Given the description of an element on the screen output the (x, y) to click on. 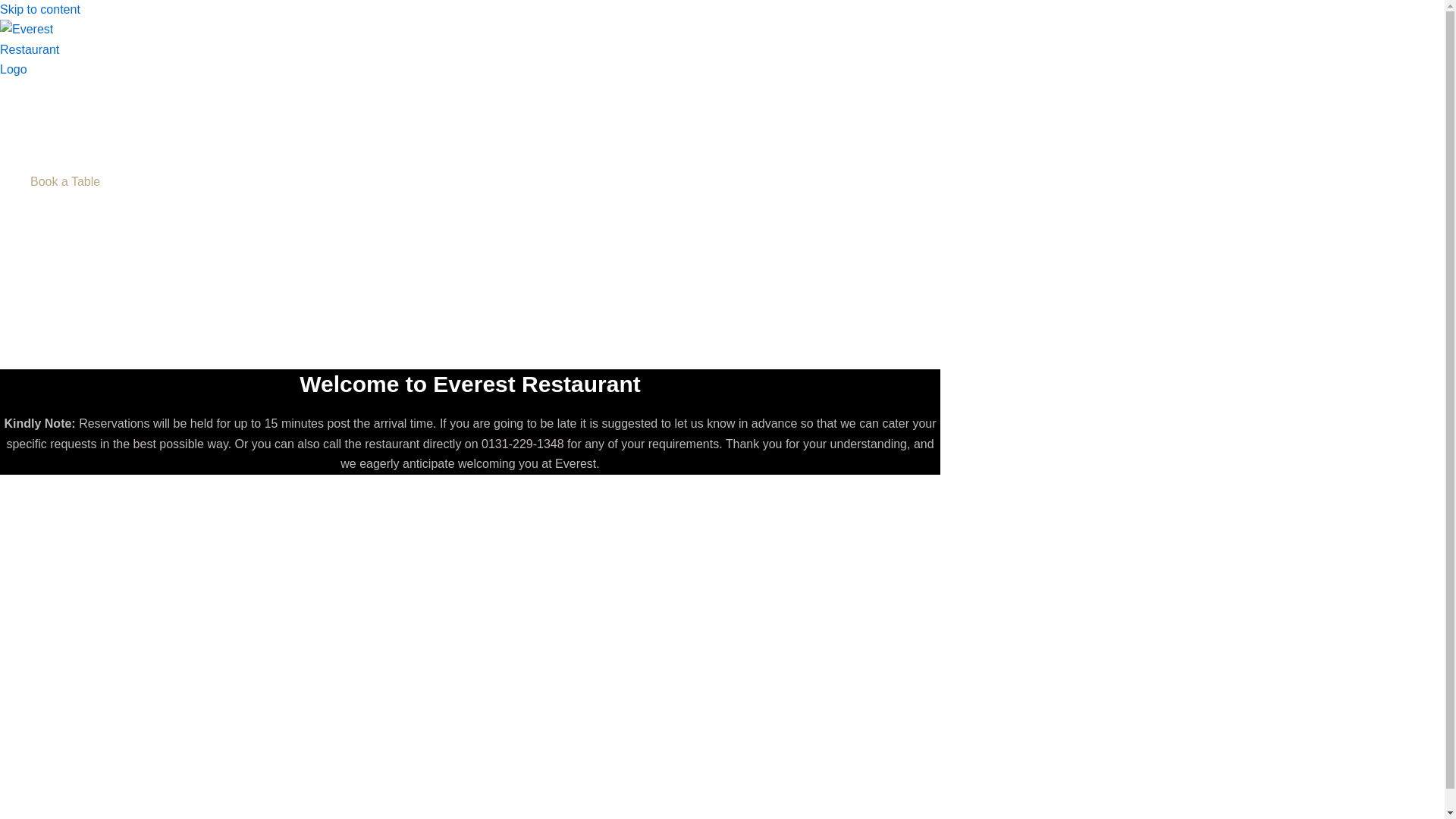
Skip to content (40, 9)
Takeaway Menu (75, 141)
Menu (75, 121)
Contact Us (75, 221)
Skip to content (40, 9)
About Us (75, 202)
Click and Collect (75, 161)
Book a Table (75, 181)
Home (75, 102)
